Given the description of an element on the screen output the (x, y) to click on. 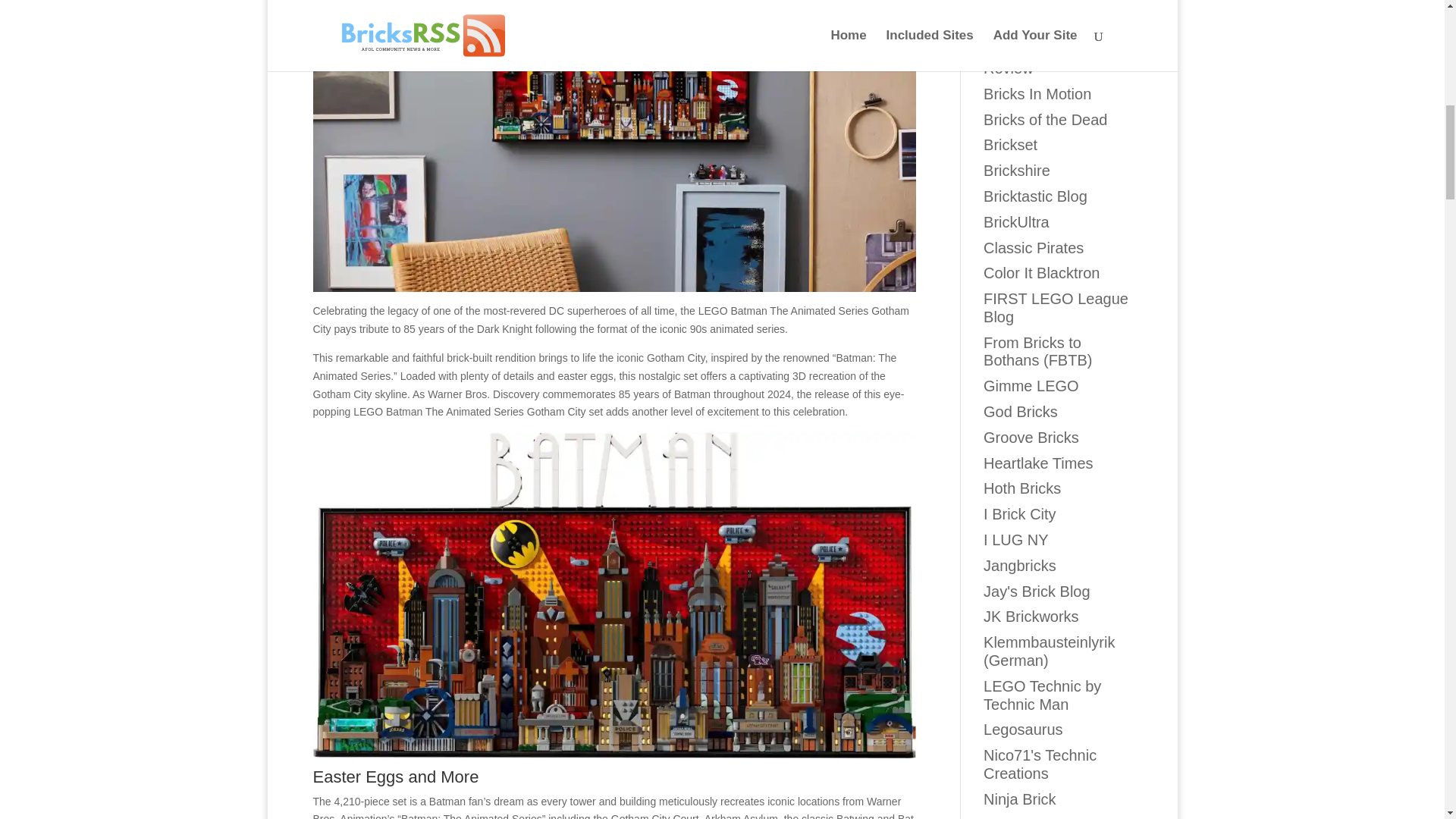
Brickpicker (1021, 23)
BrickNerd (1016, 3)
Bricks and Blogs Review (1040, 58)
